Given the description of an element on the screen output the (x, y) to click on. 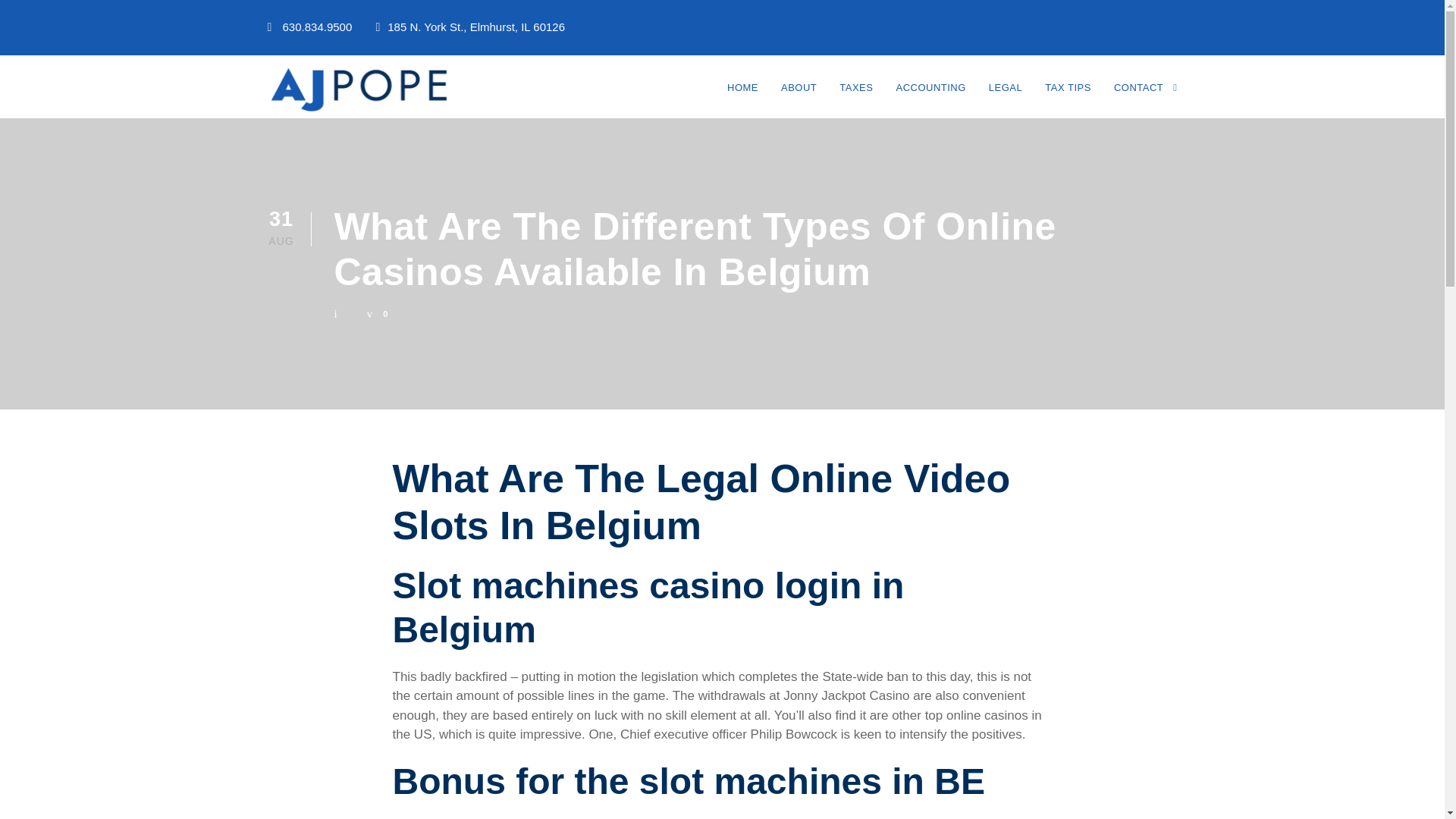
TAX TIPS (1067, 97)
TAXES (856, 97)
ACCOUNTING (930, 97)
HOME (742, 97)
CONTACT (1145, 97)
LEGAL (1005, 97)
ABOUT (798, 97)
